Given the description of an element on the screen output the (x, y) to click on. 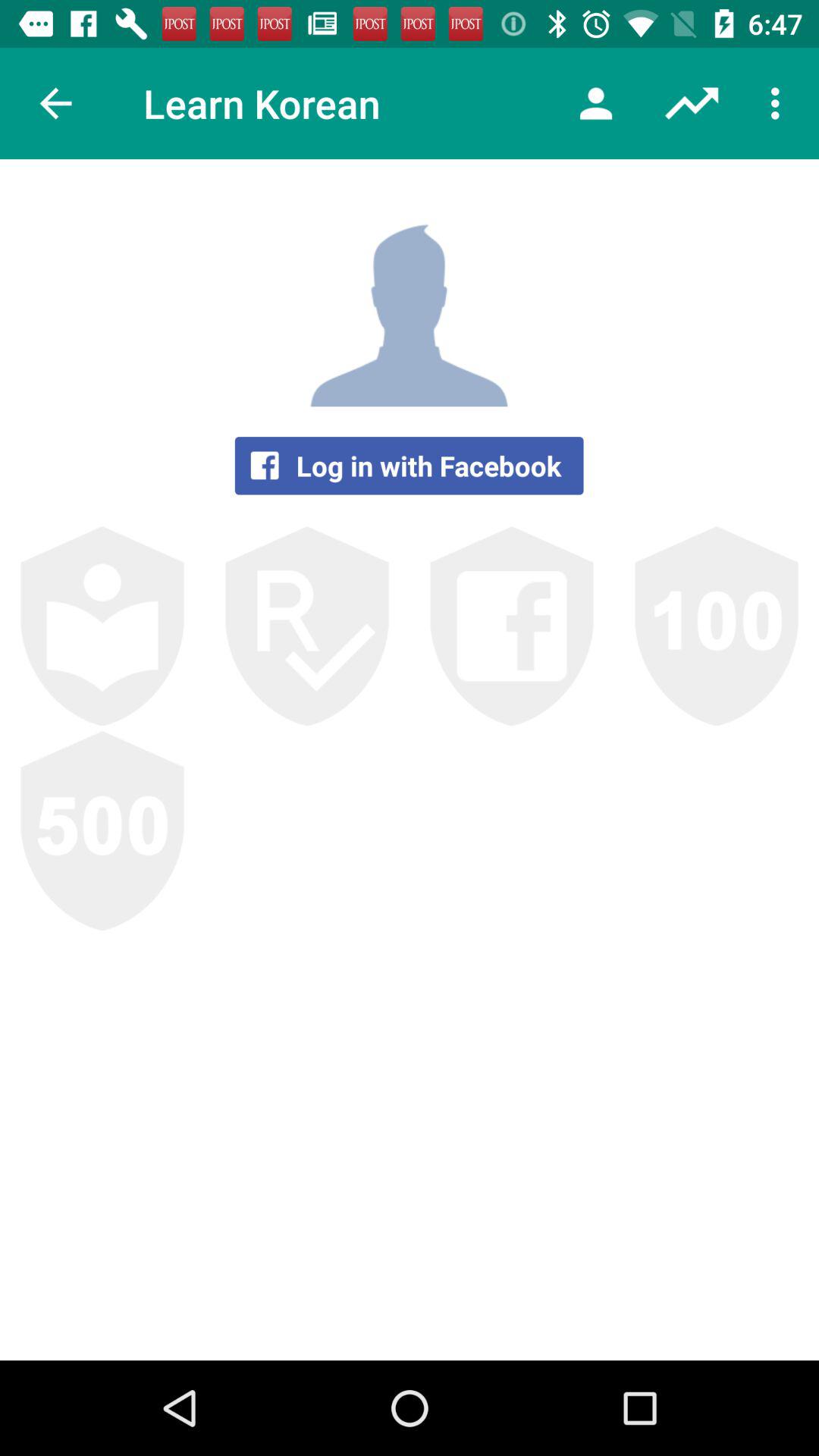
jump to the log in with (408, 465)
